Given the description of an element on the screen output the (x, y) to click on. 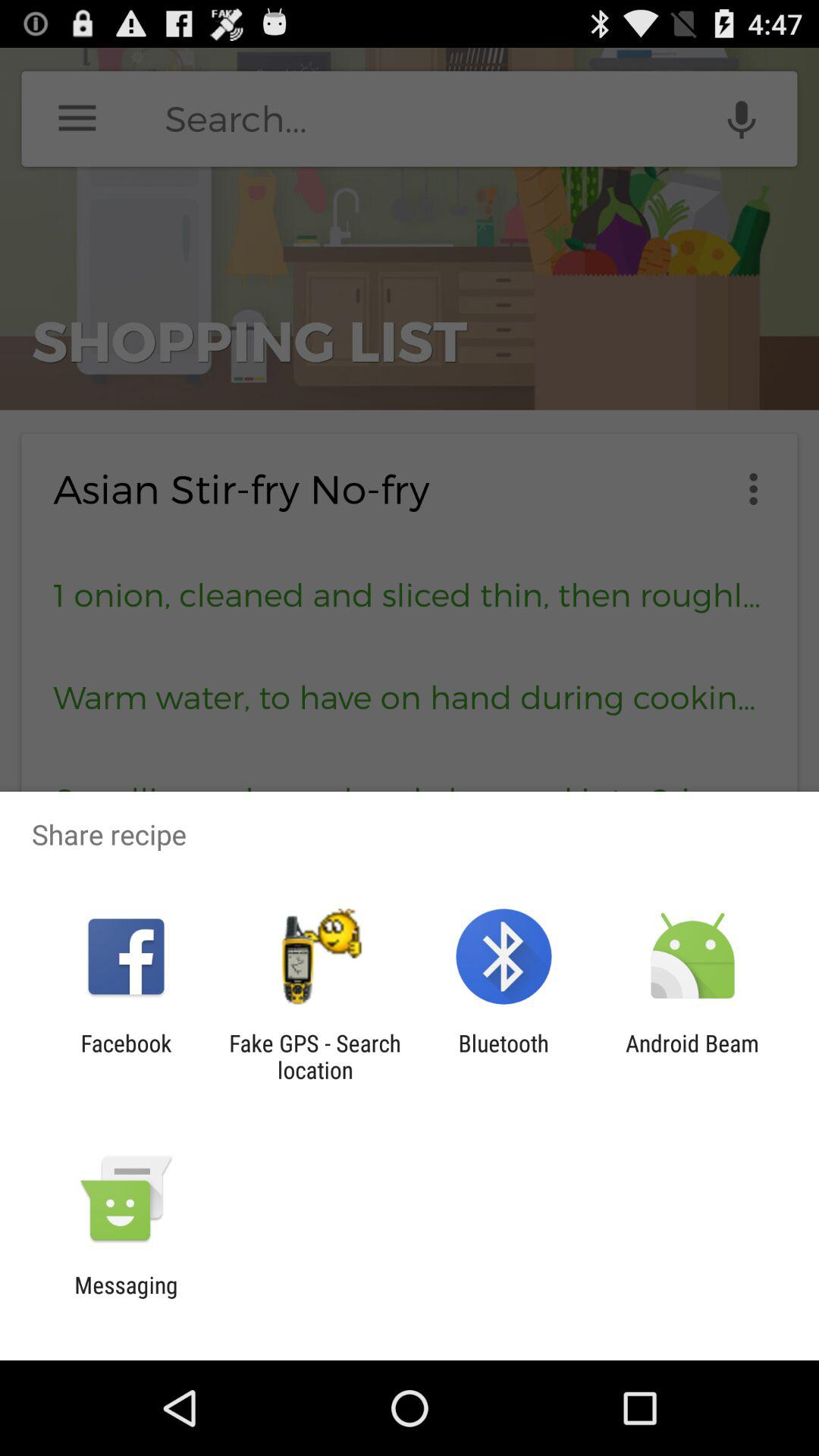
flip until the facebook (125, 1056)
